Given the description of an element on the screen output the (x, y) to click on. 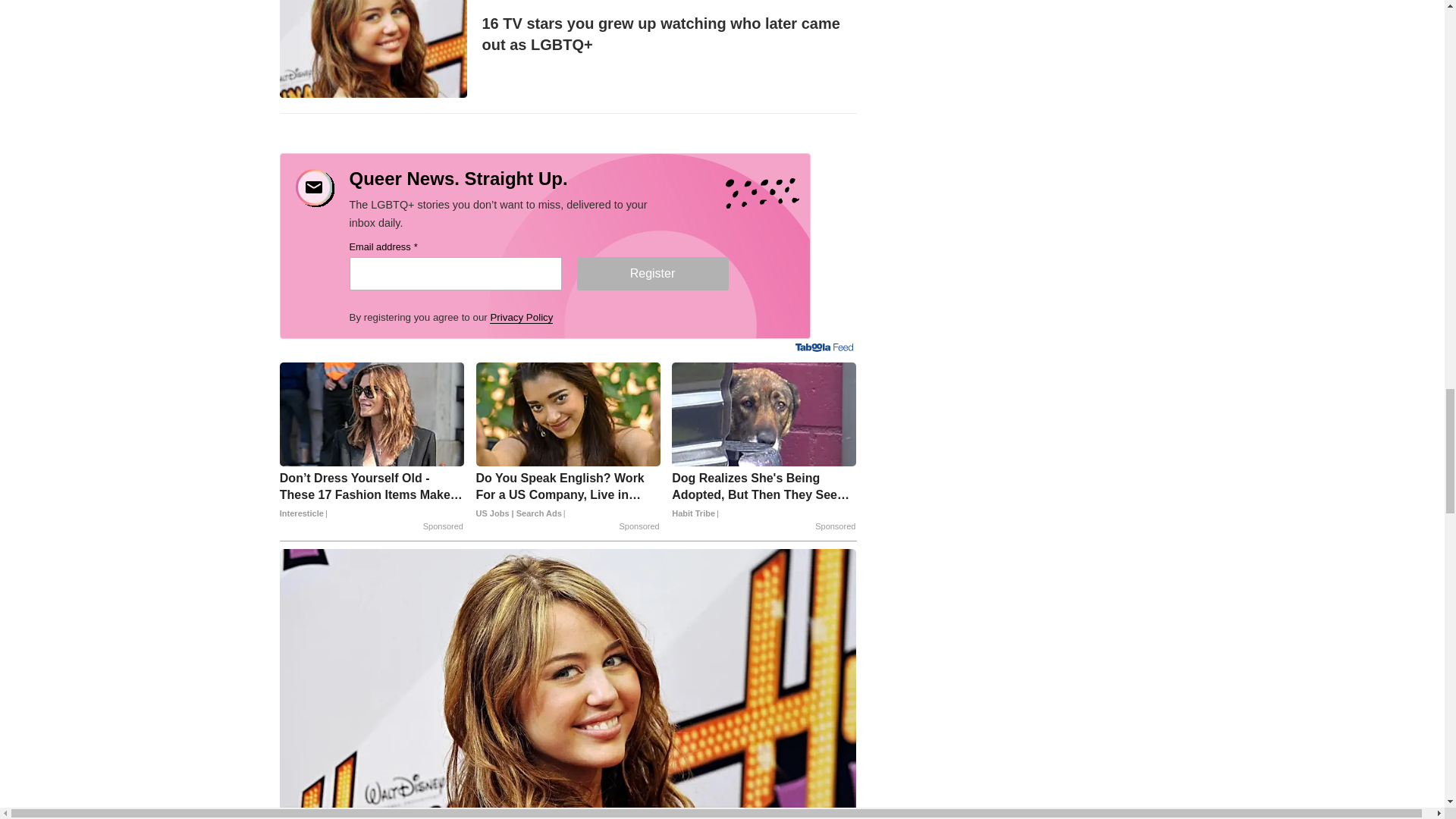
Do You Speak English? Work For a US Company, Live in China (568, 495)
